Given the description of an element on the screen output the (x, y) to click on. 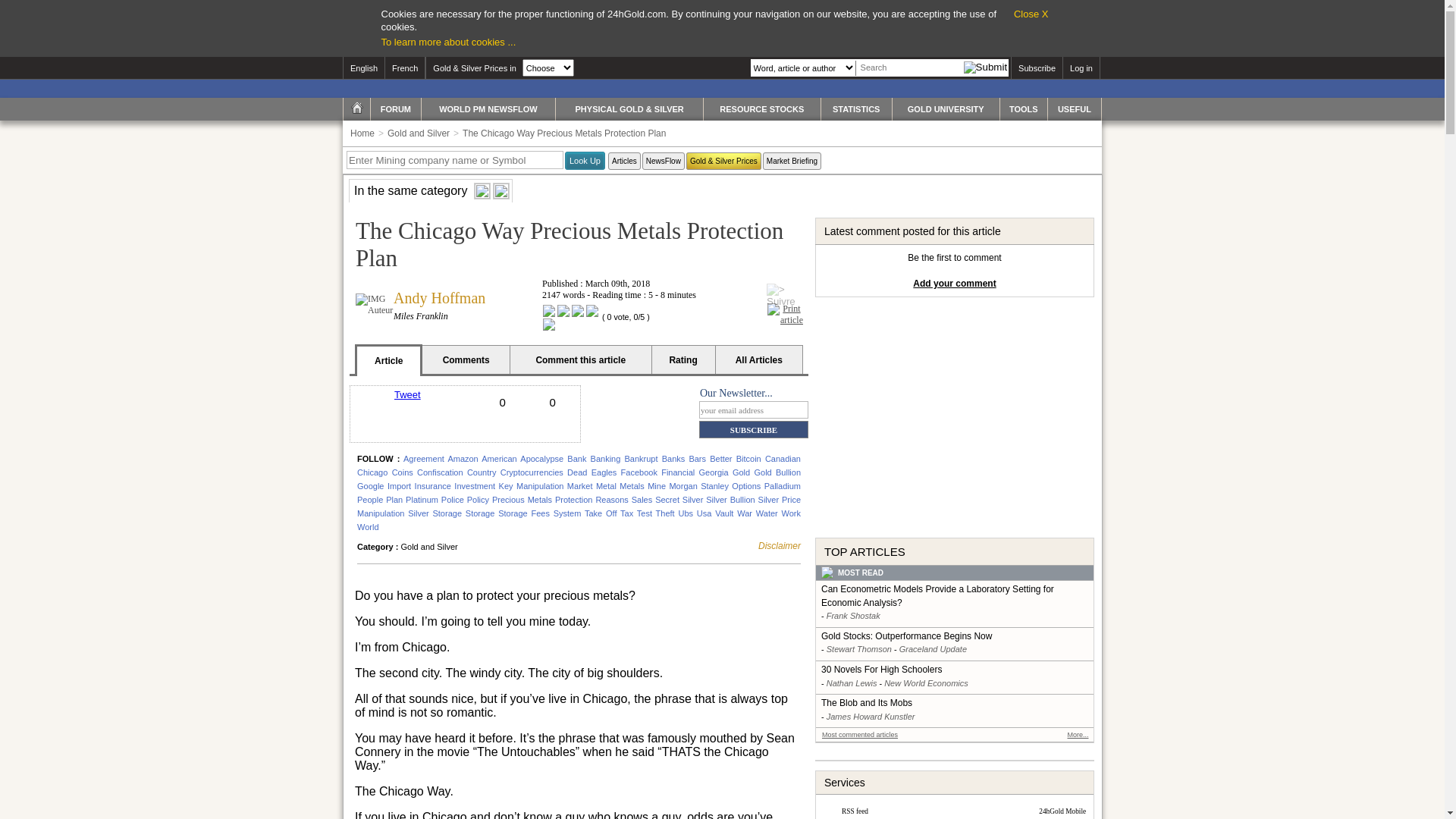
Silver Bullion Element type: text (730, 499)
Georgia Element type: text (713, 471)
Look Up Element type: text (584, 160)
Water Element type: text (767, 512)
The Chicago Way Precious Metals Protection Plan Element type: text (561, 133)
Cryptocurrencies Element type: text (531, 471)
Banking Element type: text (605, 458)
Insurance Element type: text (432, 485)
Tweet Element type: text (407, 394)
USEFUL Element type: text (1074, 108)
Gold Bullion Element type: text (776, 471)
Rating Element type: text (683, 360)
Banks Element type: text (673, 458)
Eagles Element type: text (604, 471)
Confiscation Element type: text (440, 471)
Gold Stocks: Outperformance Begins Now Element type: text (956, 636)
24hGold Mobile Element type: text (1061, 811)
Key Element type: text (505, 485)
People Element type: text (369, 499)
Options Element type: text (745, 485)
World Element type: text (368, 526)
Storage Element type: text (480, 512)
Comment this article Element type: text (580, 360)
Stewart Thomson Element type: text (858, 648)
To learn more about cookies ... Element type: text (447, 41)
Close X Element type: text (1030, 13)
Andy Hoffman Element type: text (439, 297)
Market Briefing Element type: text (791, 160)
STATISTICS Element type: text (856, 108)
Gold & Silver Prices Element type: text (723, 160)
Precious Metals Element type: text (522, 499)
GOLD UNIVERSITY Element type: text (945, 108)
Articles Element type: text (624, 160)
French Element type: text (404, 67)
The Blob and Its Mobs Element type: text (956, 703)
Chicago Element type: text (372, 471)
Theft Element type: text (664, 512)
Palladium Element type: text (782, 485)
Policy Element type: text (478, 499)
Canadian Element type: text (782, 458)
Frank Shostak Element type: text (853, 615)
Take Off Element type: text (600, 512)
Plan Element type: text (393, 499)
Manipulation Element type: text (539, 485)
Gold Element type: text (740, 471)
Agreement Element type: text (423, 458)
RSS feed Element type: text (854, 811)
Investment Element type: text (474, 485)
Subscribe Element type: text (1036, 67)
Country Element type: text (481, 471)
SUBSCRIBE Element type: text (753, 429)
Gold and Silver Element type: text (416, 133)
Home Element type: text (362, 133)
Mine Element type: text (656, 485)
Bitcoin Element type: text (748, 458)
Ubs Element type: text (685, 512)
English Element type: text (363, 67)
James Howard Kunstler Element type: text (870, 716)
Bank Element type: text (576, 458)
TOOLS Element type: text (1023, 108)
30 Novels For High Schoolers Element type: text (956, 670)
Facebook Element type: text (639, 471)
Comments Element type: text (465, 360)
FORUM Element type: text (395, 108)
Amazon Element type: text (462, 458)
Better Element type: text (720, 458)
Secret Element type: text (667, 499)
Metal Element type: text (606, 485)
WORLD PM NEWSFLOW Element type: text (488, 108)
comment Element type: text (552, 428)
System Element type: text (567, 512)
Reasons Element type: text (611, 499)
Gold and Silver Element type: text (428, 546)
Storage Fees Element type: text (523, 512)
Tax Element type: text (626, 512)
Import Element type: text (399, 485)
Enter name or Symbol Element type: hover (454, 159)
War Element type: text (744, 512)
All Articles Element type: text (758, 359)
Andy Hoffman Element type: hover (374, 304)
You must be logged in to follow an author Element type: hover (785, 290)
Morgan Stanley Element type: text (698, 485)
Sales Element type: text (641, 499)
Send Element type: text (502, 428)
Gold & Silver Prices in Element type: text (473, 67)
More... Element type: text (1077, 734)
Usa Element type: text (704, 512)
Protection Element type: text (574, 499)
Market Element type: text (580, 485)
Google Element type: text (370, 485)
Silver Storage Element type: text (434, 512)
Article Element type: text (388, 360)
Bars Element type: text (697, 458)
Coins Element type: text (402, 471)
Home Element type: hover (357, 107)
Print article Element type: hover (785, 327)
Log in Element type: text (1081, 67)
Work Element type: text (790, 512)
Bankrupt Element type: text (640, 458)
Silver Element type: text (692, 499)
PHYSICAL GOLD & SILVER Element type: text (628, 108)
Vault Element type: text (724, 512)
Financial Element type: text (677, 471)
RESOURCE STOCKS Element type: text (761, 108)
American Element type: text (498, 458)
Dead Element type: text (576, 471)
Most commented articles Element type: text (859, 734)
NewsFlow Element type: text (663, 160)
Add your comment Element type: text (954, 283)
Platinum Element type: text (421, 499)
Apocalypse Element type: text (541, 458)
Test Element type: text (644, 512)
Police Element type: text (452, 499)
Miles Franklin Element type: text (420, 315)
Metals Element type: text (631, 485)
Silver Price Manipulation Element type: text (578, 506)
Disclaimer Element type: text (779, 545)
Nathan Lewis Element type: text (851, 682)
